Given the description of an element on the screen output the (x, y) to click on. 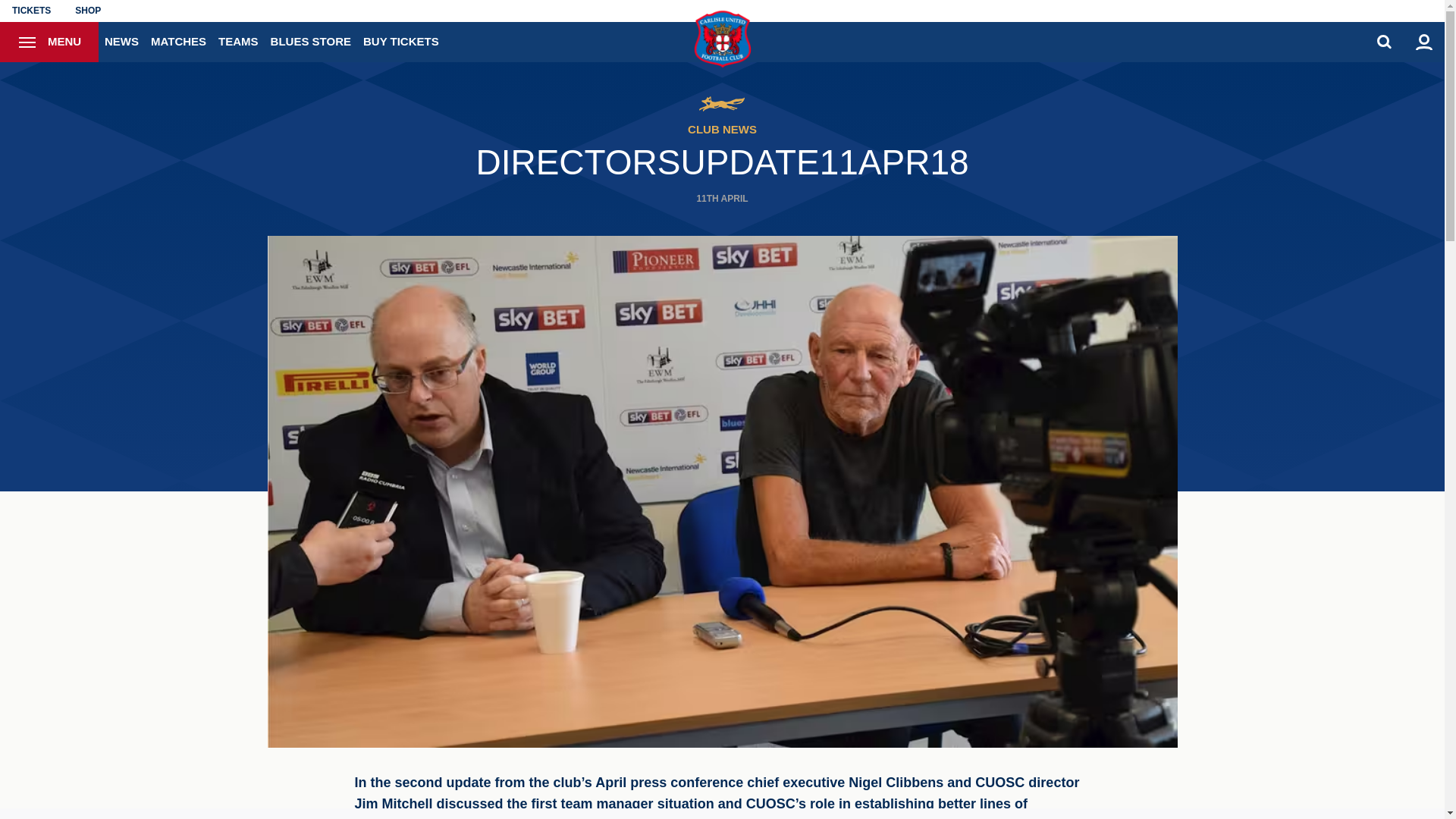
MENU (49, 42)
TICKETS (31, 11)
SHOP (87, 11)
